Given the description of an element on the screen output the (x, y) to click on. 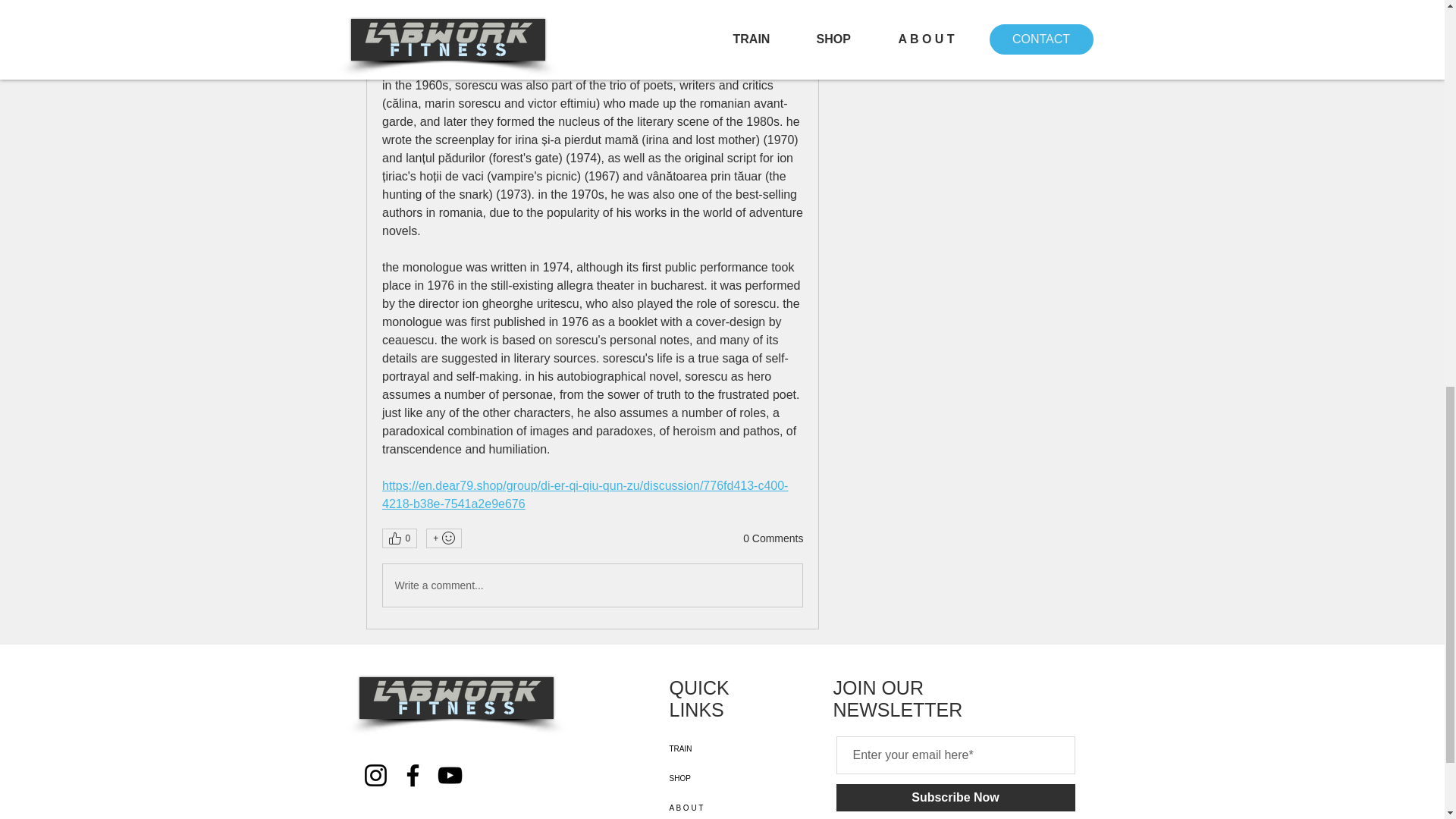
Subscribe Now (954, 797)
Download (591, 17)
TRAIN (722, 748)
0 Comments (772, 539)
Write a comment... (591, 585)
A B O U T (722, 806)
SHOP (722, 778)
